Given the description of an element on the screen output the (x, y) to click on. 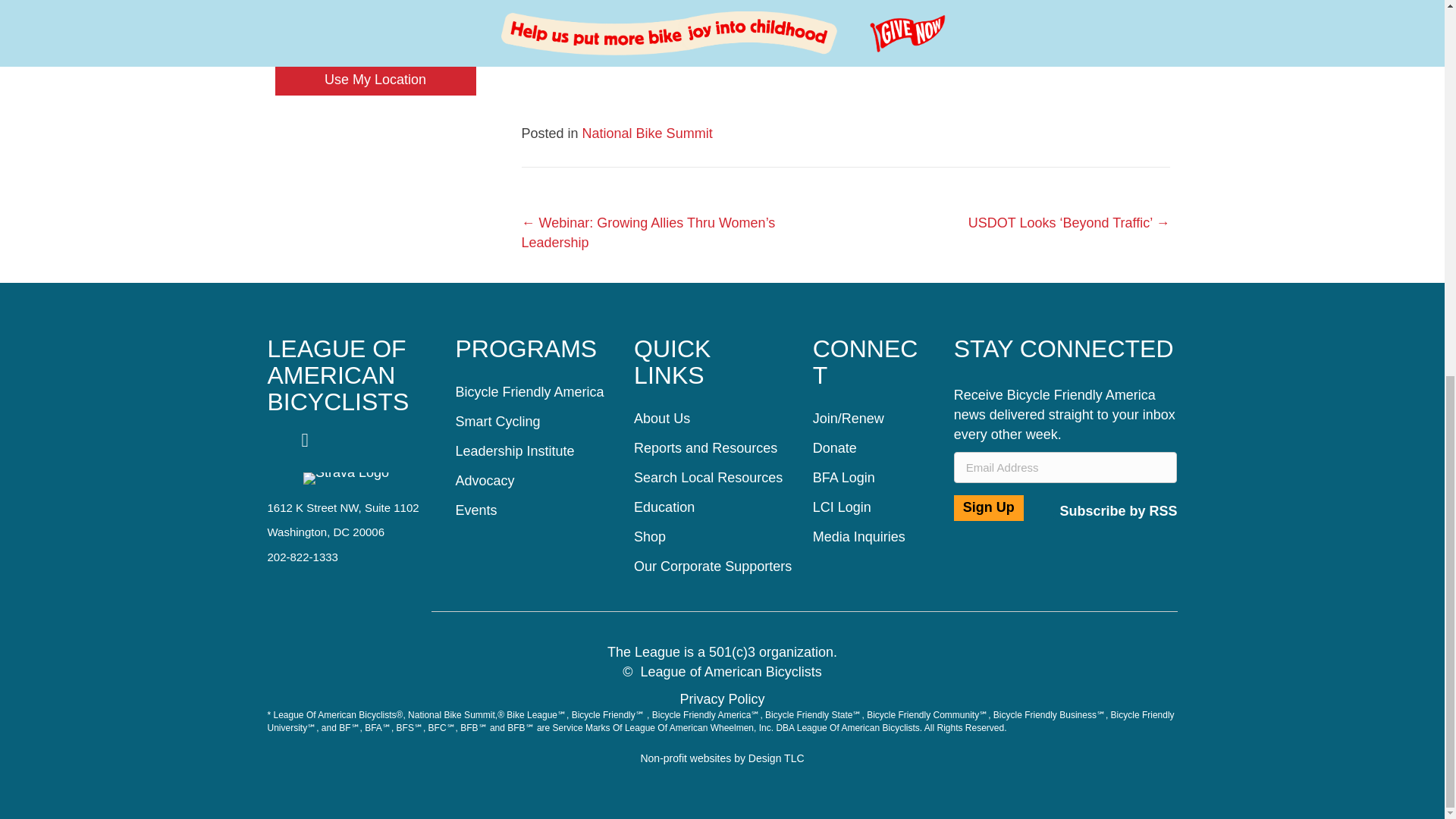
Sign Up (988, 507)
Strava-FATMAP-OrangeWhite-RGB (345, 478)
Click Here (1114, 510)
League of American Bicyclists (337, 374)
